Given the description of an element on the screen output the (x, y) to click on. 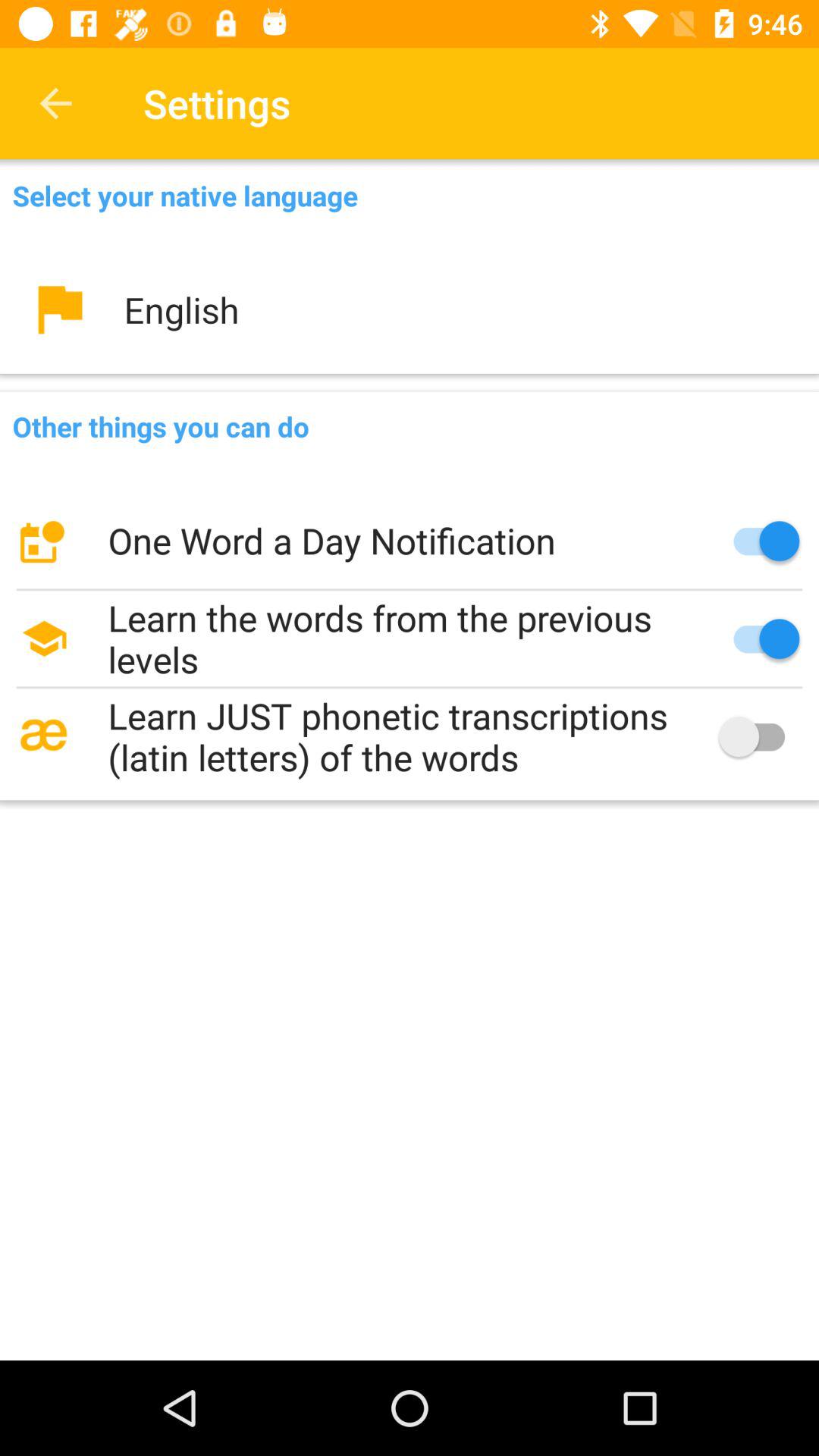
scroll until learn just phonetic icon (409, 736)
